Given the description of an element on the screen output the (x, y) to click on. 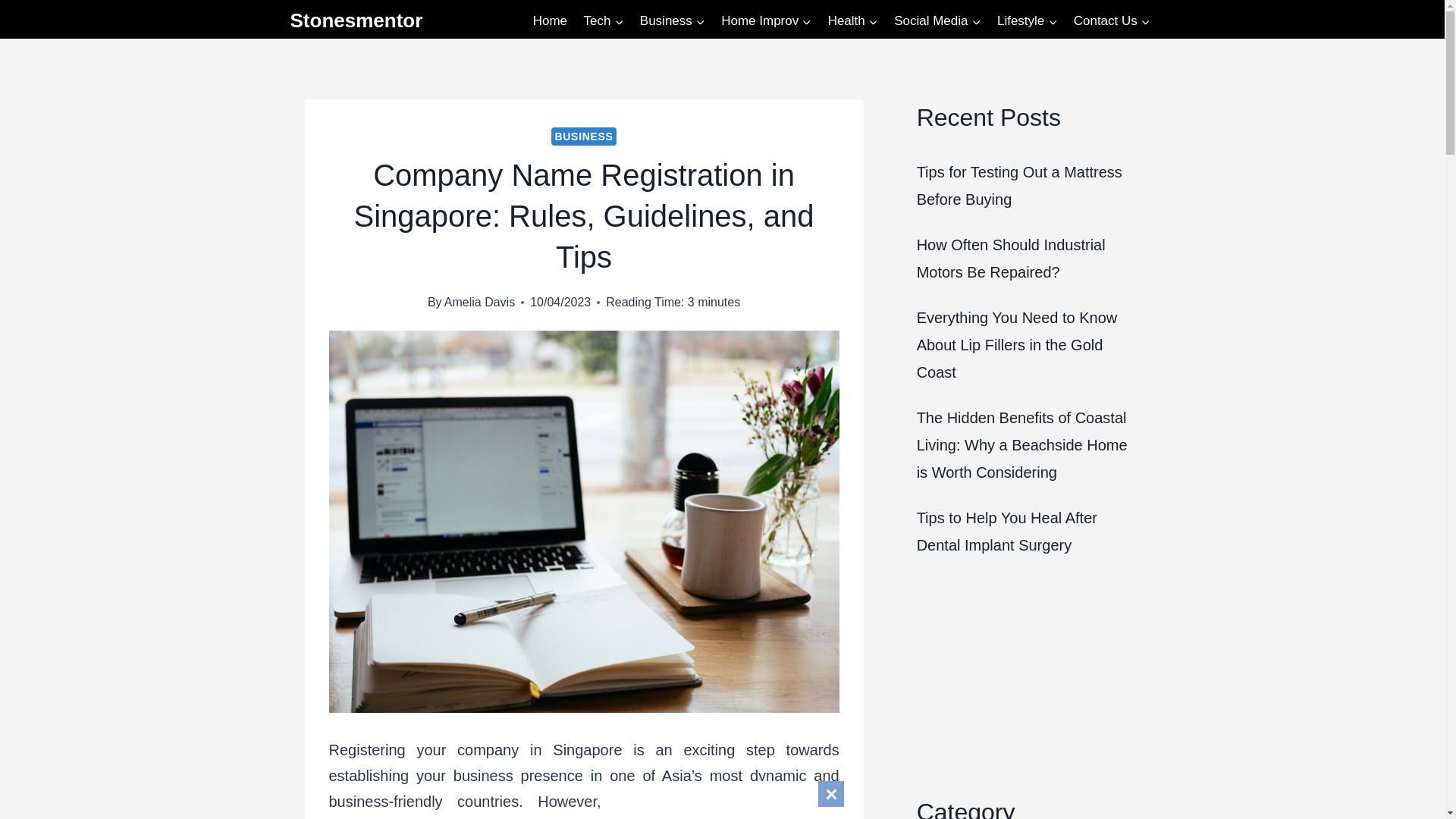
Home (549, 21)
Business (672, 21)
Social Media (936, 21)
Stonesmentor (355, 20)
Health (852, 21)
Home Improv (765, 21)
Tech (603, 21)
Lifestyle (1026, 21)
